Given the description of an element on the screen output the (x, y) to click on. 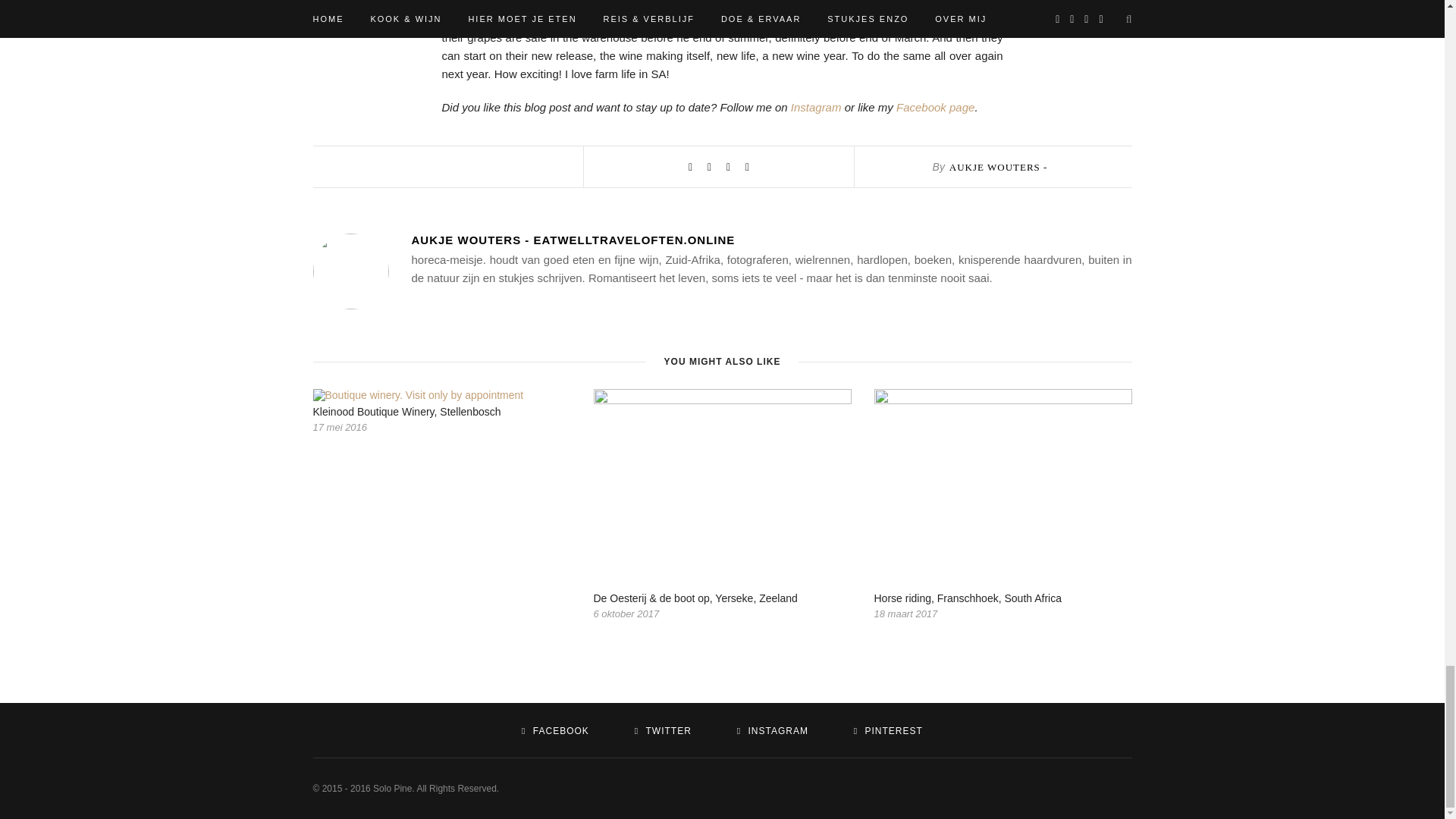
AUKJE WOUTERS - EATWELLTRAVELOFTEN.ONLINE (770, 239)
Kleinood Boutique Winery, Stellenbosch (406, 411)
PINTEREST (888, 730)
FACEBOOK (555, 730)
Berichten van Aukje Wouters - eatwelltraveloften.online (770, 239)
Facebook page (935, 106)
TWITTER (662, 730)
Berichten van Aukje Wouters - eatwelltraveloften.online (989, 187)
Horse riding, Franschhoek, South Africa (967, 598)
INSTAGRAM (772, 730)
Instagram (815, 106)
AUKJE WOUTERS - EATWELLTRAVELOFTEN.ONLINE (989, 187)
